Given the description of an element on the screen output the (x, y) to click on. 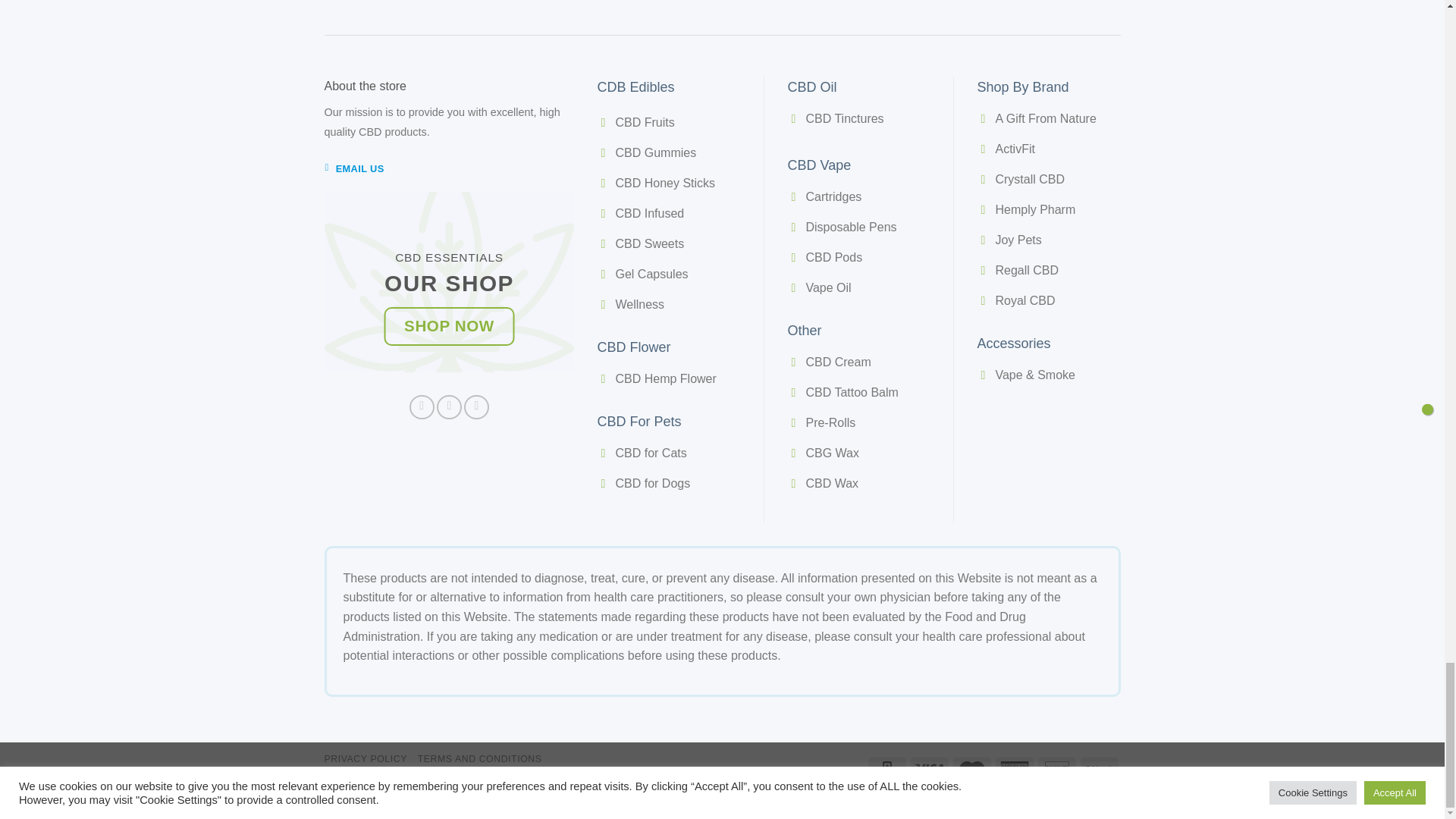
Follow on Facebook (421, 407)
Follow on Instagram (448, 407)
Follow on Pinterest (476, 407)
